Given the description of an element on the screen output the (x, y) to click on. 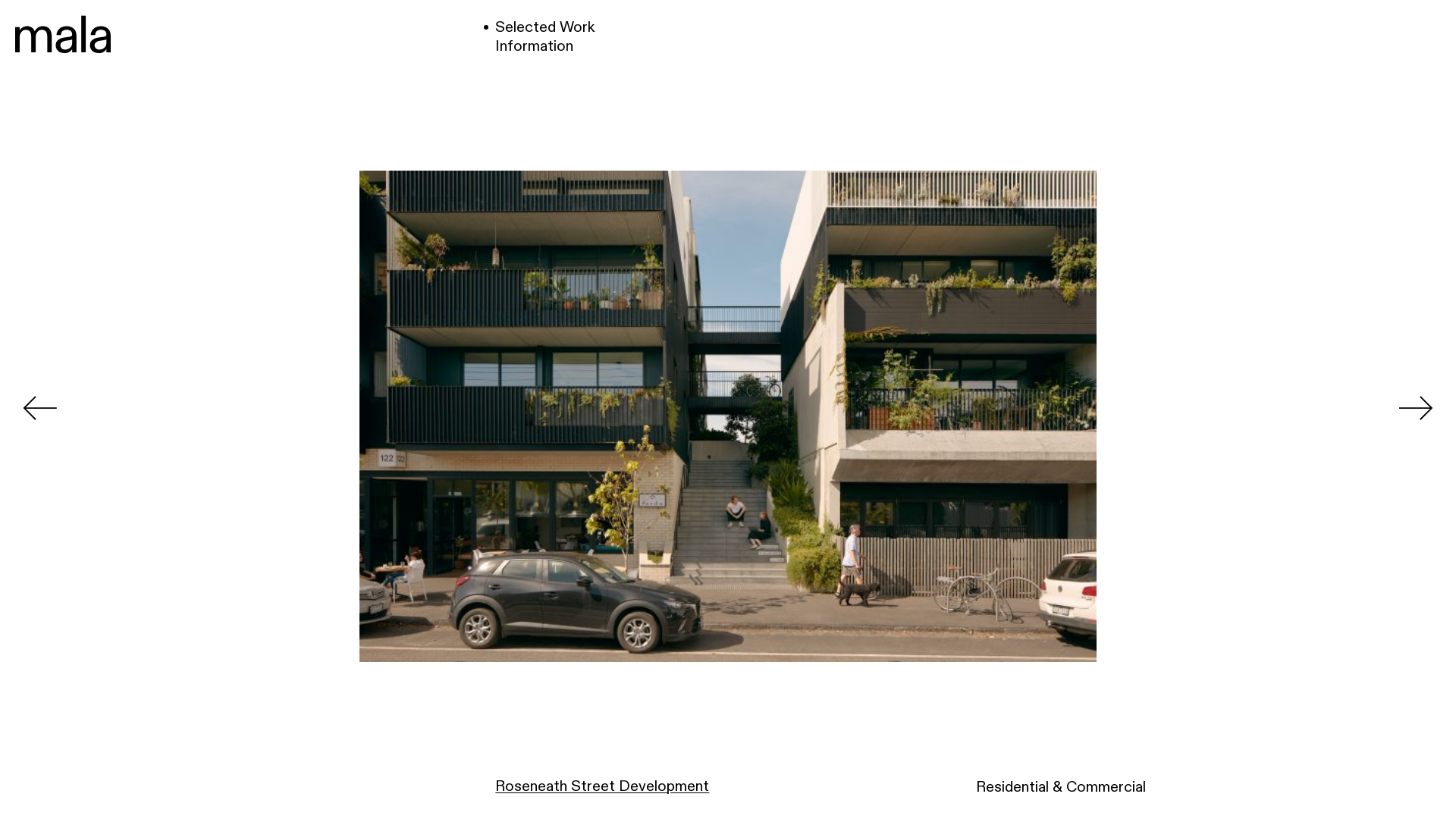
Information Element type: text (544, 45)
Mala Element type: hover (62, 36)
Roseneath Street Development Element type: text (602, 786)
Selected Work Element type: text (544, 26)
